Given the description of an element on the screen output the (x, y) to click on. 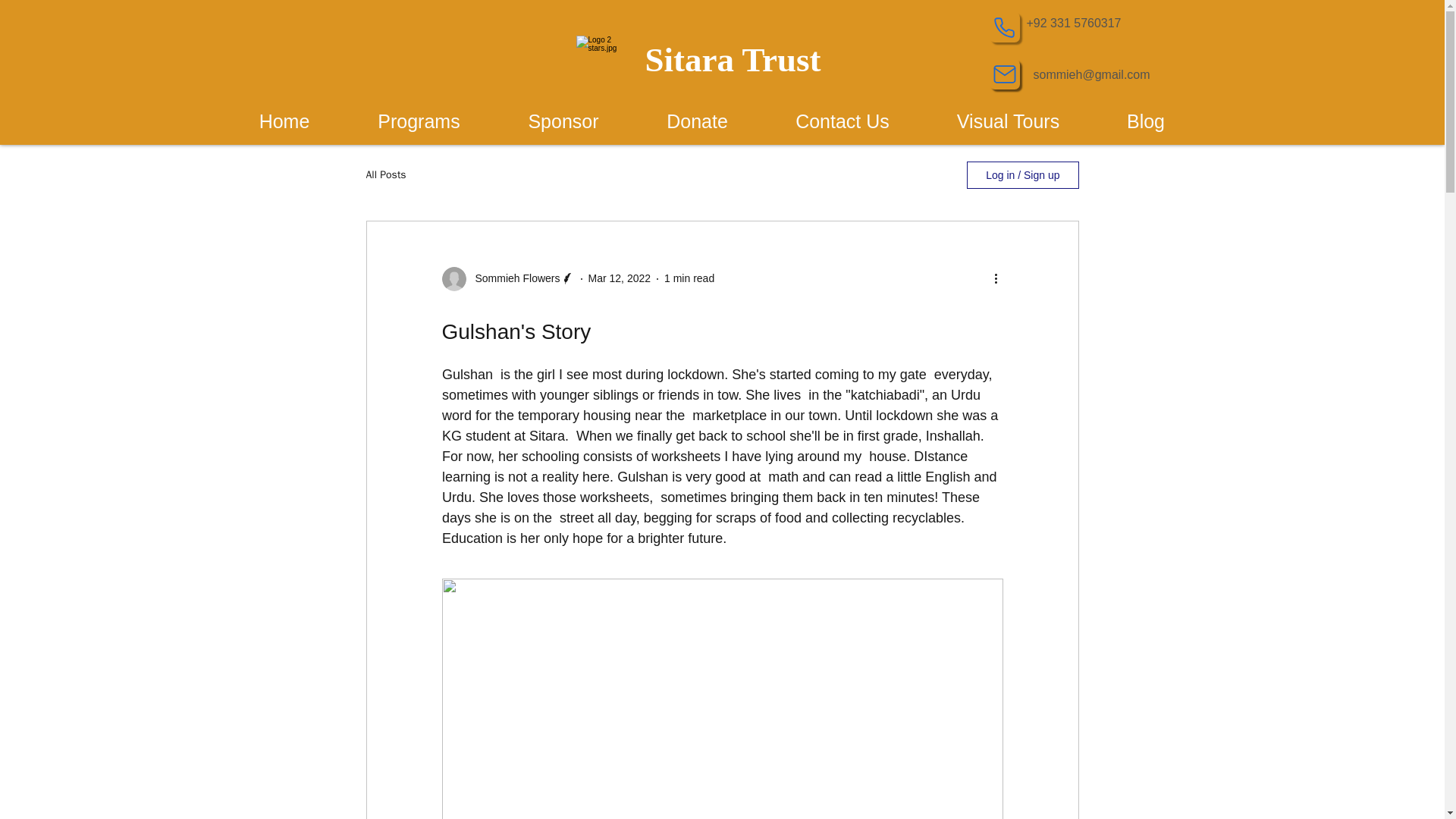
Sommieh Flowers (512, 278)
Contact Us (842, 121)
Visual Tours (1008, 121)
All Posts (385, 174)
Donate (696, 121)
Blog (1145, 121)
Mar 12, 2022 (619, 277)
Home (283, 121)
1 min read (688, 277)
